Given the description of an element on the screen output the (x, y) to click on. 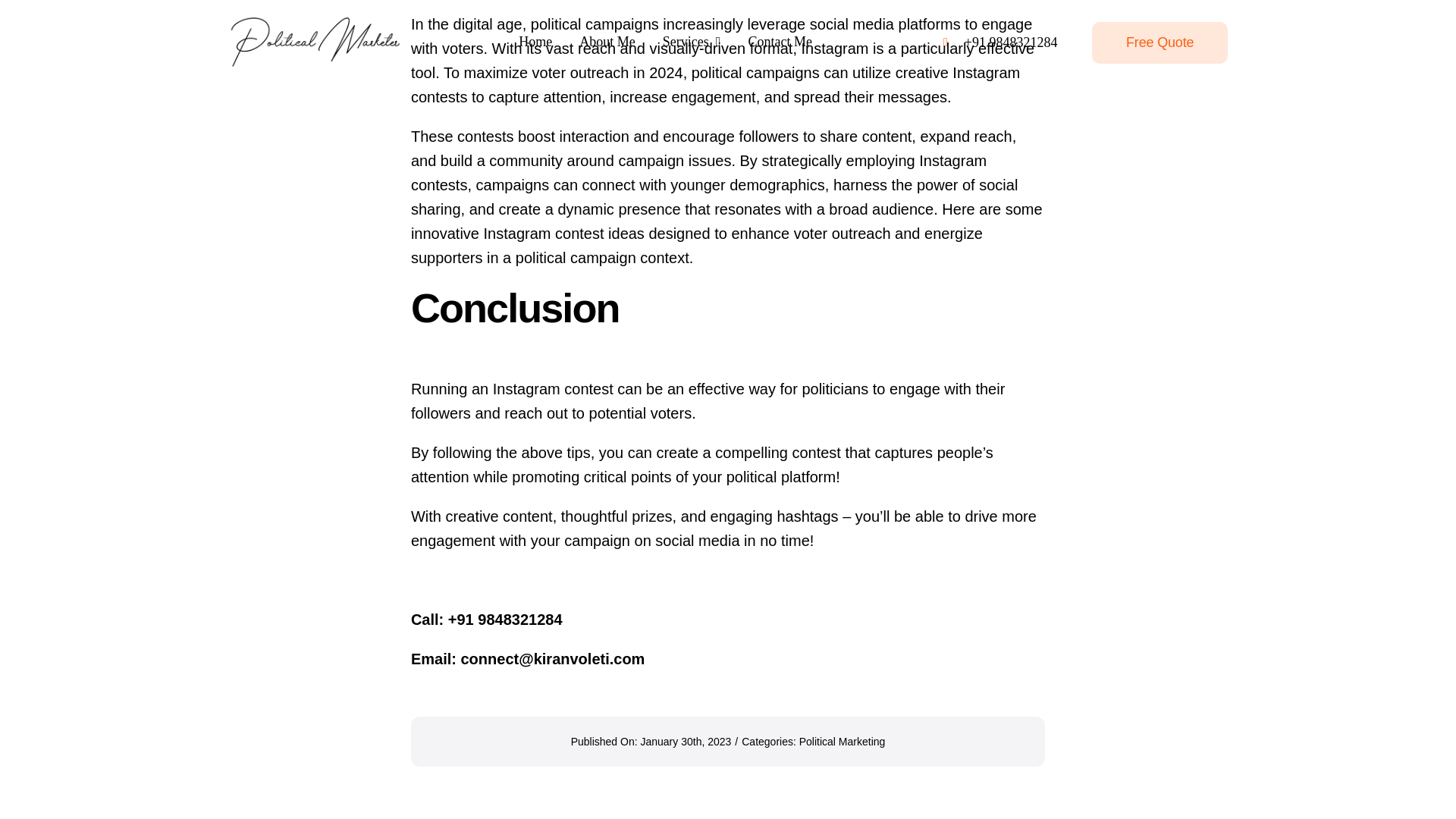
digital age (487, 23)
social media platforms (884, 23)
Political Marketing (842, 741)
